Given the description of an element on the screen output the (x, y) to click on. 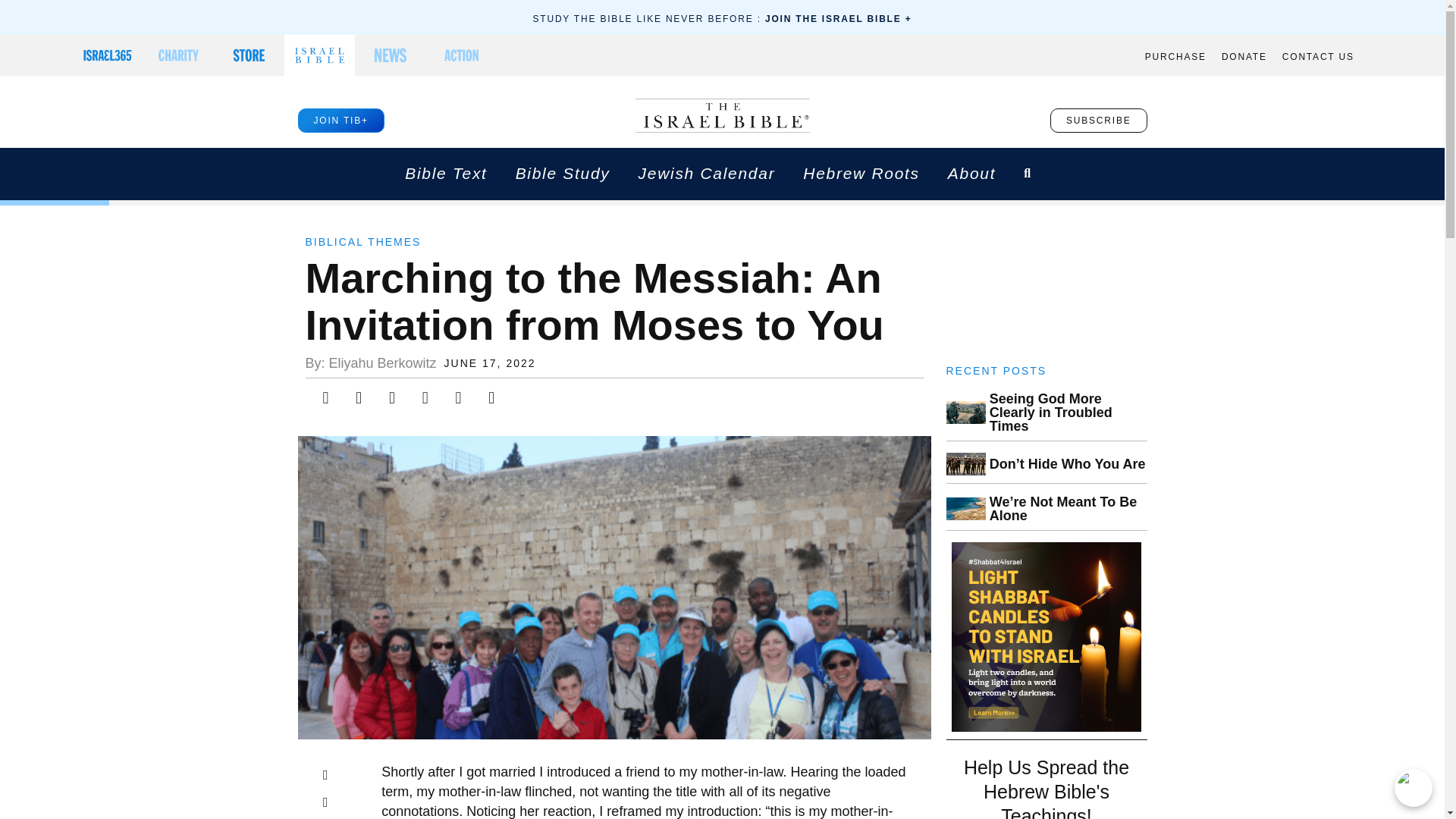
PURCHASE (1175, 56)
DONATE (1243, 56)
CONTACT US (1318, 56)
SUBSCRIBE (1098, 120)
